Given the description of an element on the screen output the (x, y) to click on. 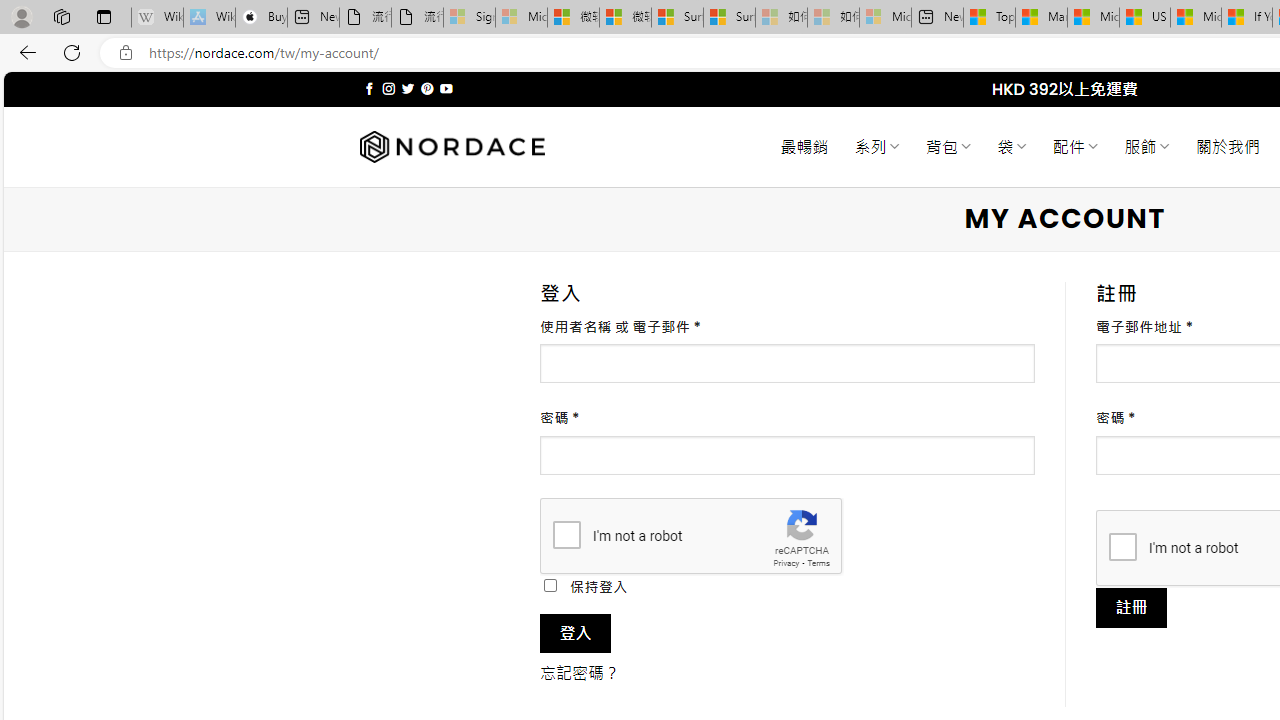
Terms (818, 562)
